Given the description of an element on the screen output the (x, y) to click on. 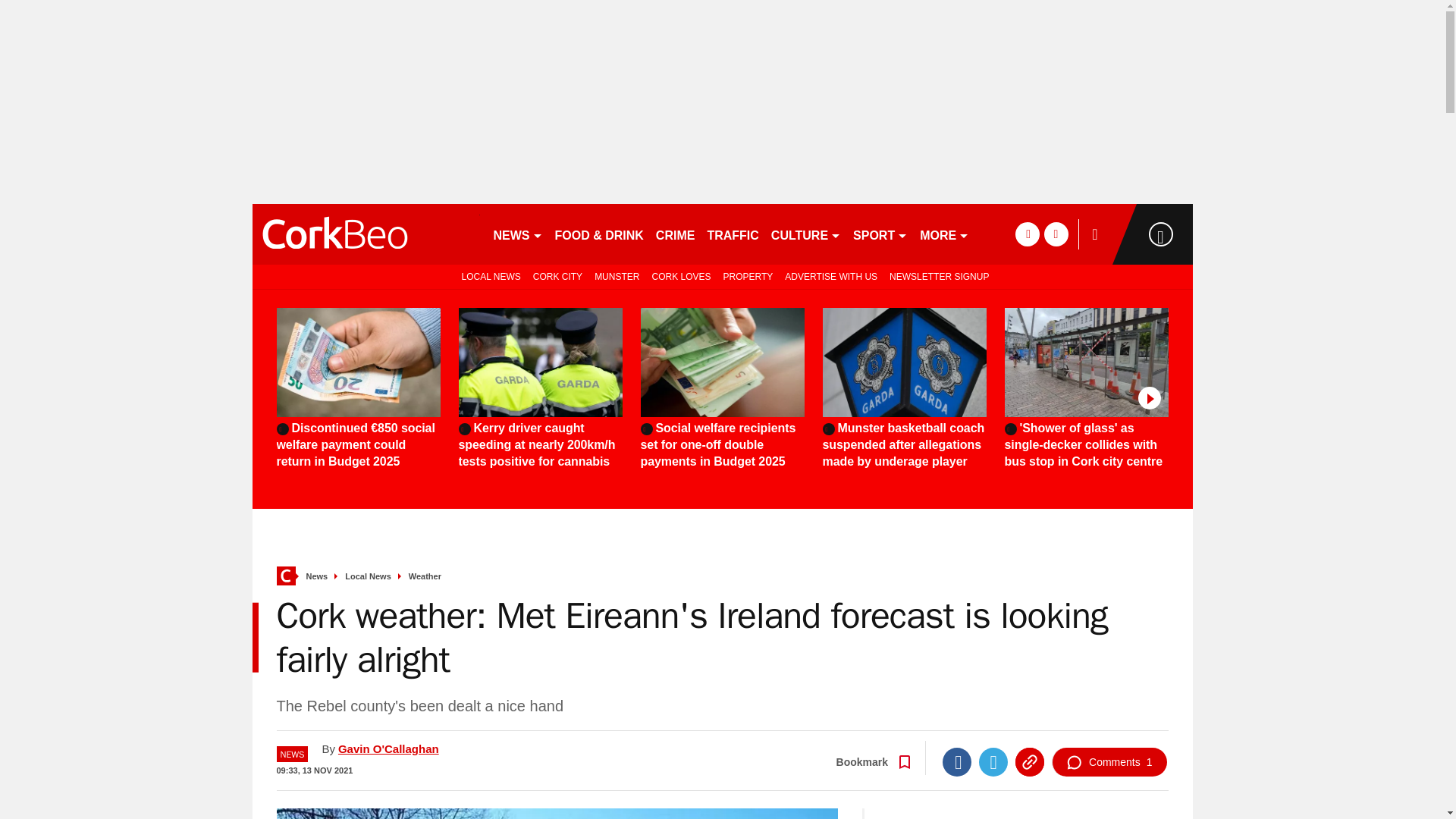
LOCAL NEWS (488, 275)
TRAFFIC (732, 233)
PROPERTY (747, 275)
ADVERTISE WITH US (830, 275)
MUNSTER (616, 275)
facebook (1026, 233)
SPORT (880, 233)
Comments (1108, 761)
CORK LOVES (680, 275)
MORE (944, 233)
CULTURE (806, 233)
NEWS (517, 233)
Twitter (992, 761)
NEWSLETTER SIGNUP (938, 275)
CORK CITY (557, 275)
